Given the description of an element on the screen output the (x, y) to click on. 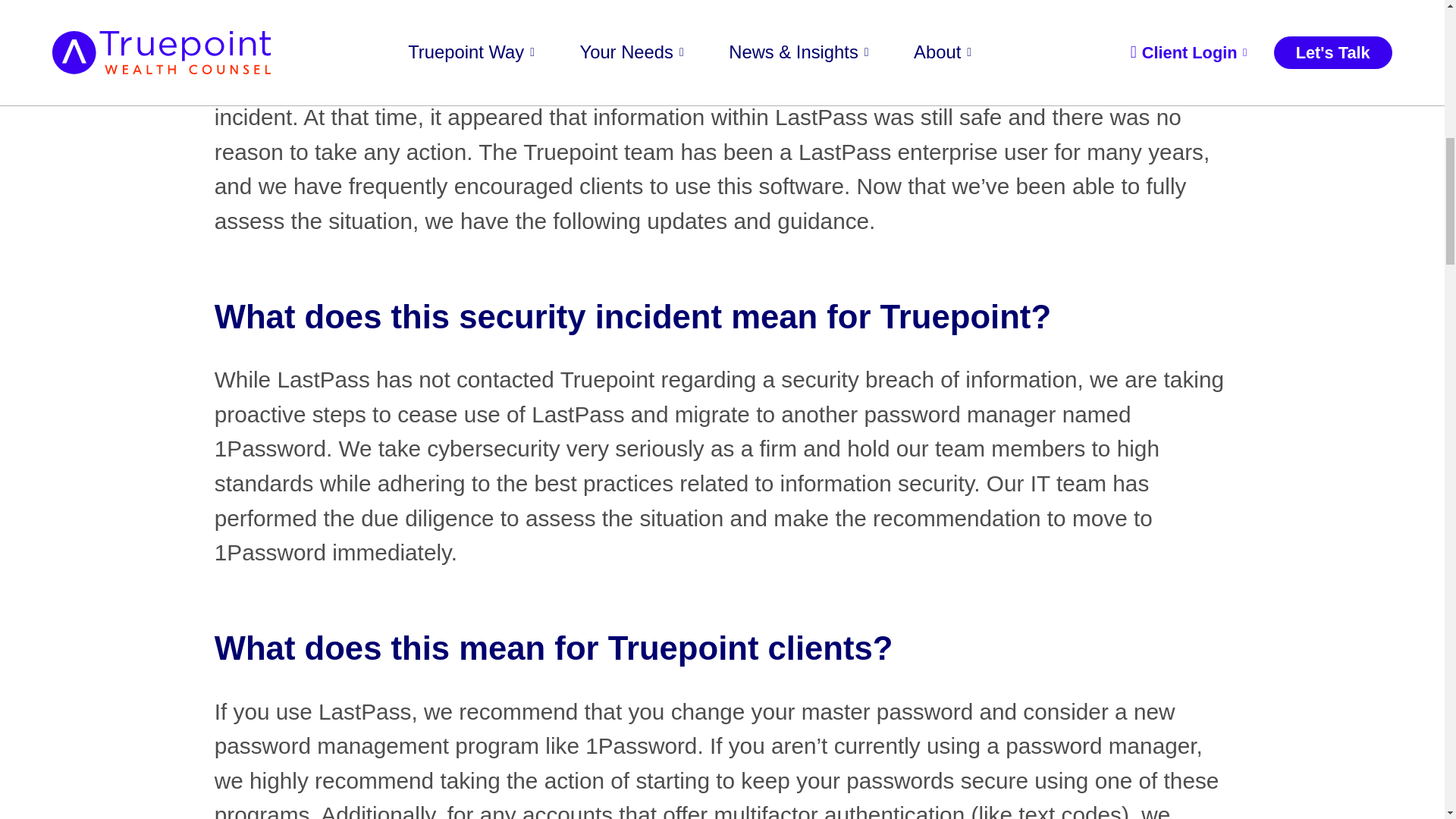
Important Update on the LastPass Security Incident (722, 13)
